Given the description of an element on the screen output the (x, y) to click on. 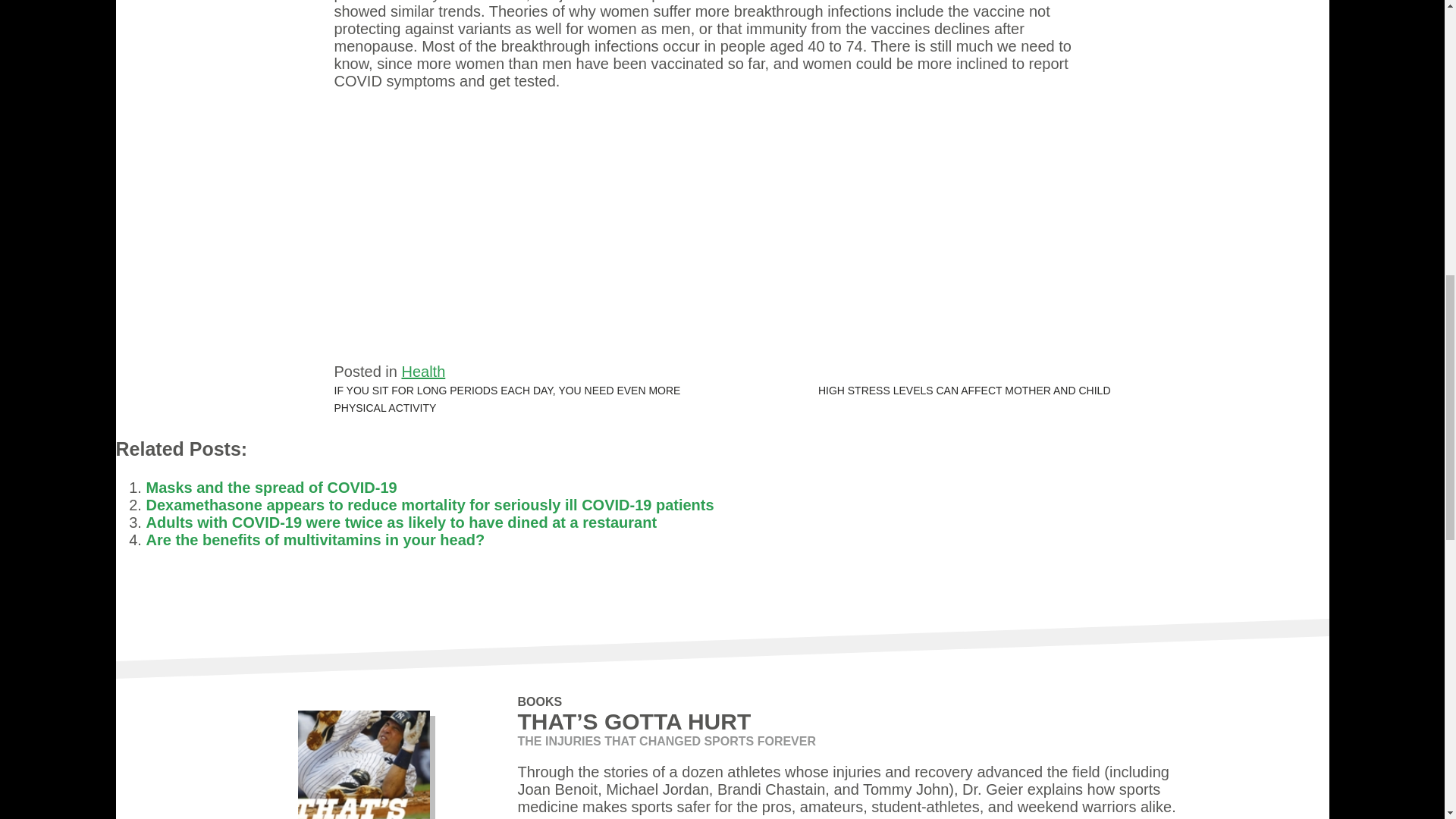
Are the benefits of multivitamins in your head? (314, 539)
Masks and the spread of COVID-19 (270, 487)
HIGH STRESS LEVELS CAN AFFECT MOTHER AND CHILD (964, 390)
YouTube video player (721, 224)
Health (423, 371)
Are the benefits of multivitamins in your head? (314, 539)
Masks and the spread of COVID-19 (270, 487)
